Given the description of an element on the screen output the (x, y) to click on. 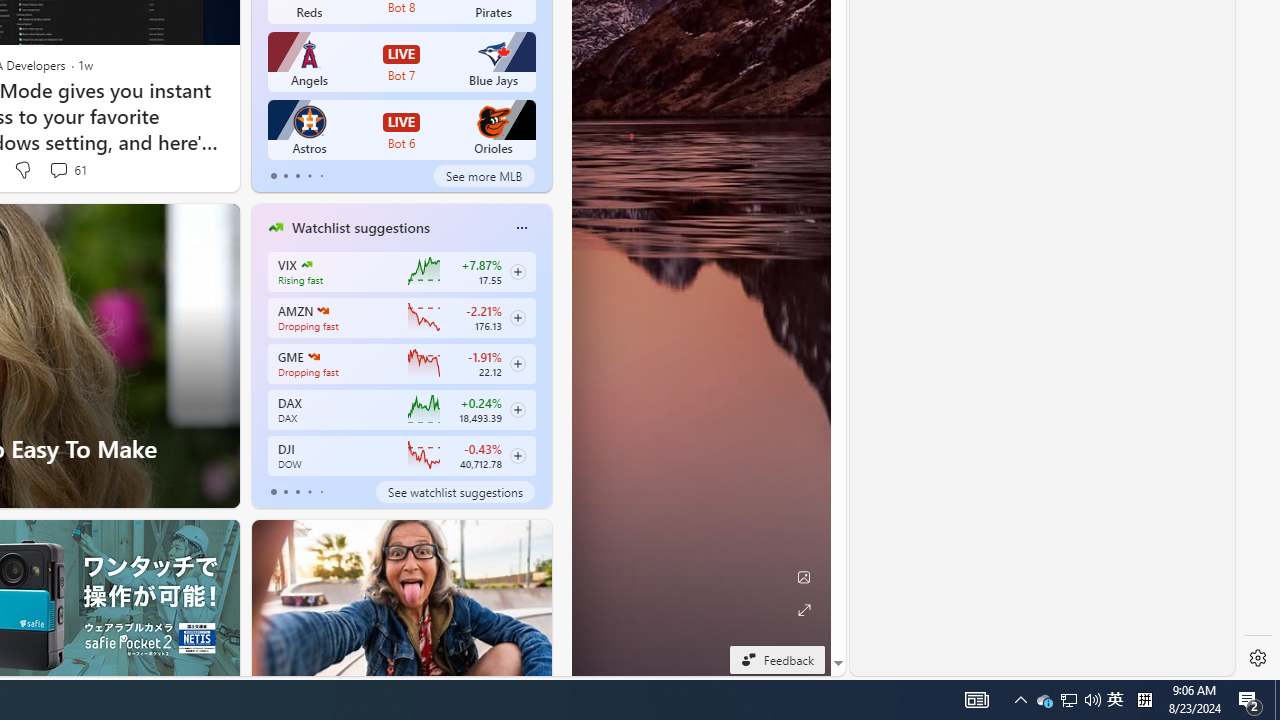
tab-4 (320, 491)
CBOE Market Volatility Index (306, 264)
View comments 61 Comment (66, 170)
View comments 61 Comment (58, 169)
See watchlist suggestions (454, 491)
See more MLB (484, 175)
tab-2 (297, 491)
Class: icon-img (521, 228)
tab-1 (285, 491)
Feedback (777, 659)
More options (521, 227)
